Given the description of an element on the screen output the (x, y) to click on. 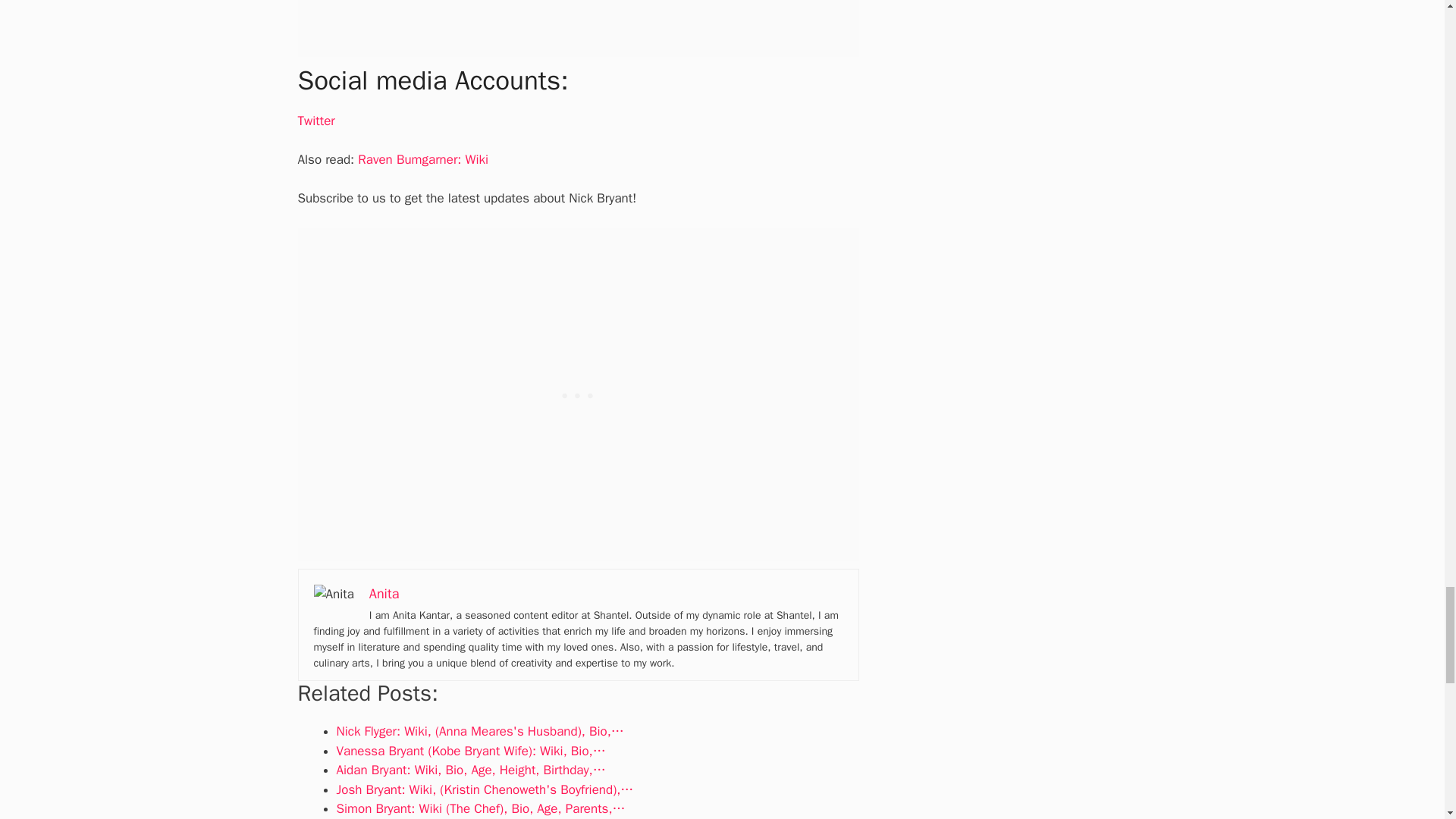
Anita (383, 593)
Twitter (315, 120)
Raven Bumgarner: Wiki (422, 159)
